Given the description of an element on the screen output the (x, y) to click on. 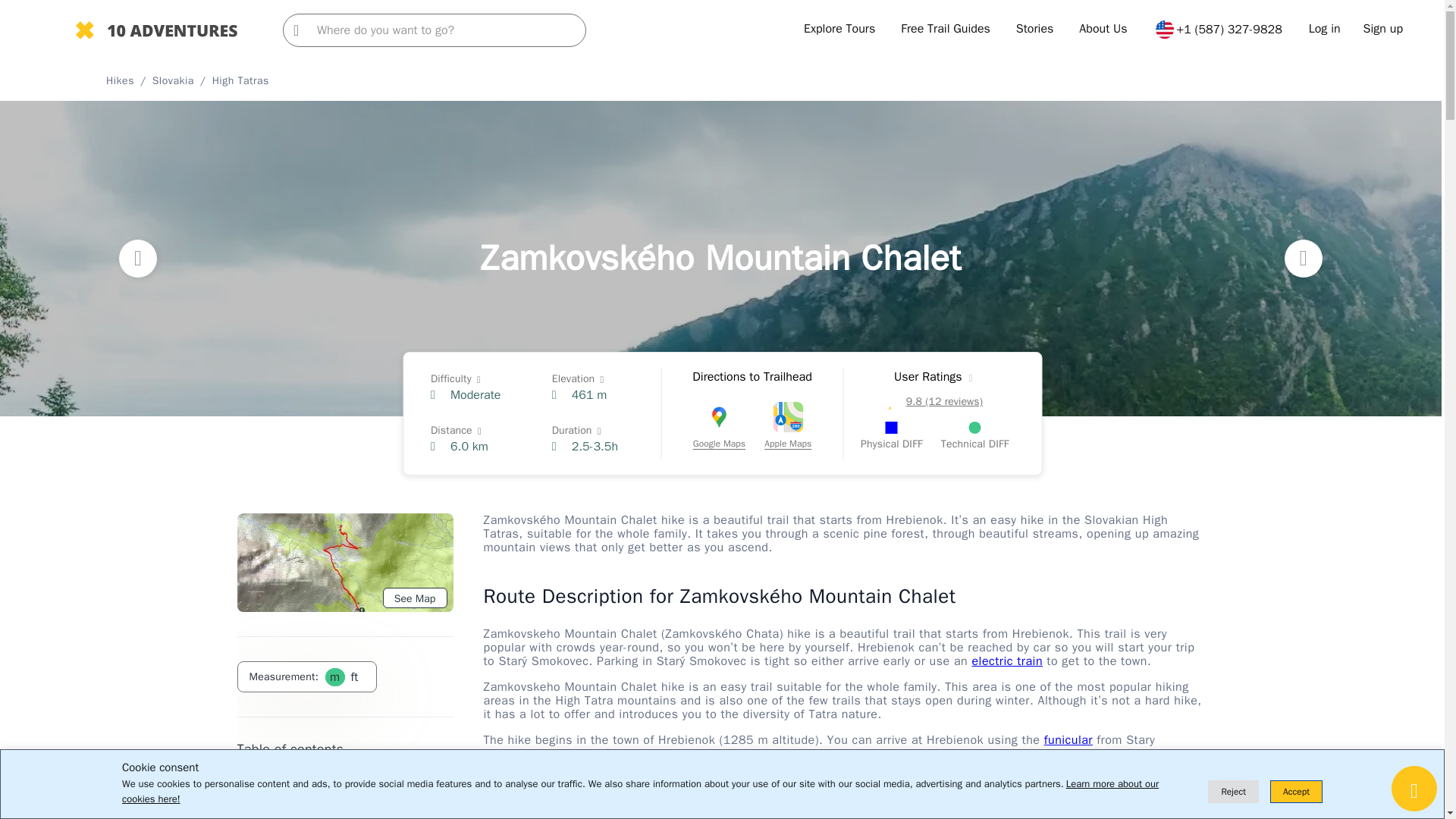
Log in (1324, 28)
About Us (1102, 28)
Sign up (1382, 28)
Slovakia (172, 80)
Route description (276, 804)
Free Trail Guides (945, 28)
metric (333, 676)
View images (265, 779)
Hikes (119, 80)
imperial (353, 676)
